Given the description of an element on the screen output the (x, y) to click on. 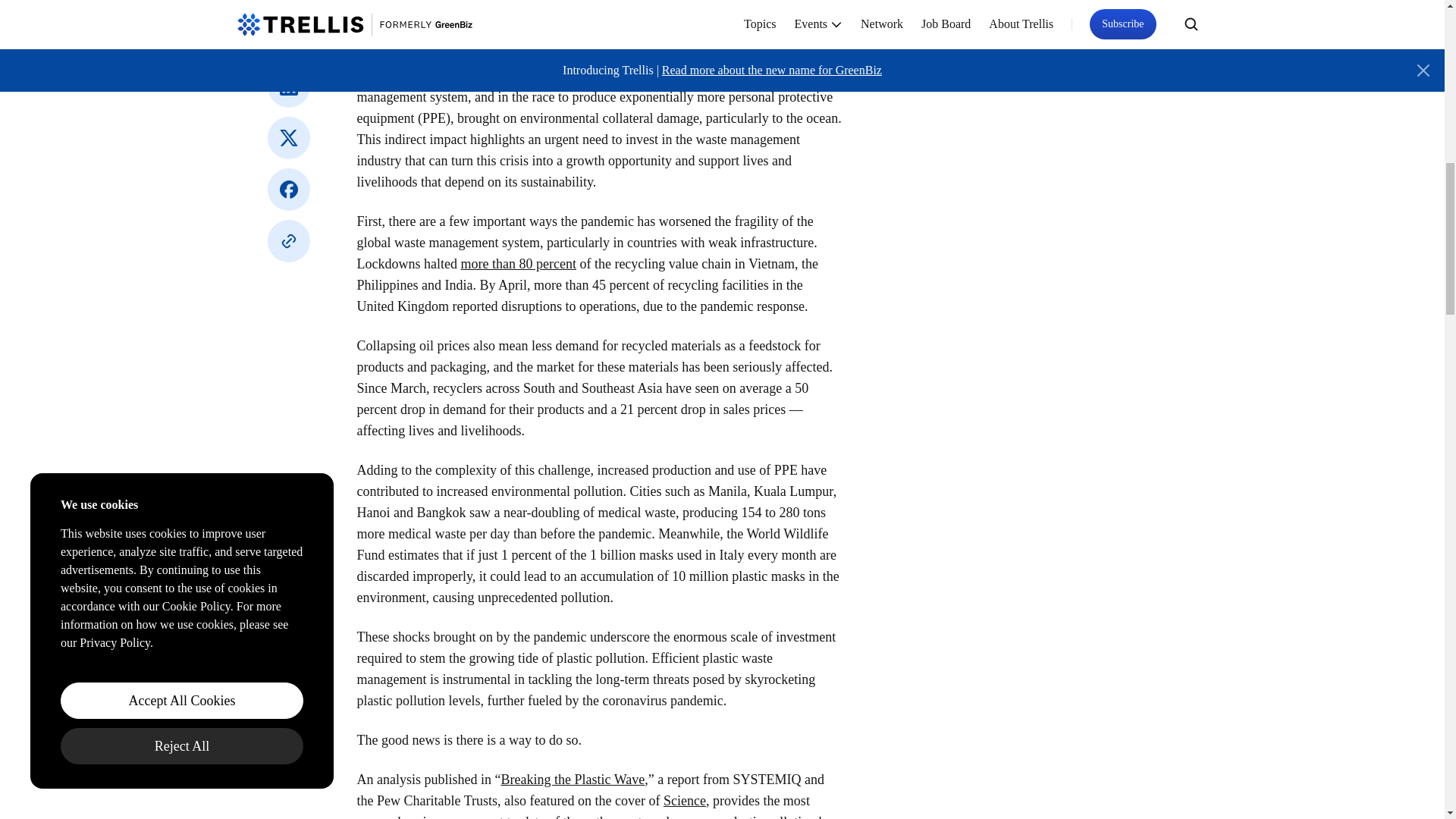
more than 80 percent (517, 263)
Facebook (287, 189)
X (287, 137)
Website (287, 241)
LinkedIn (287, 86)
Science (684, 800)
Breaking the Plastic Wave (572, 779)
